Given the description of an element on the screen output the (x, y) to click on. 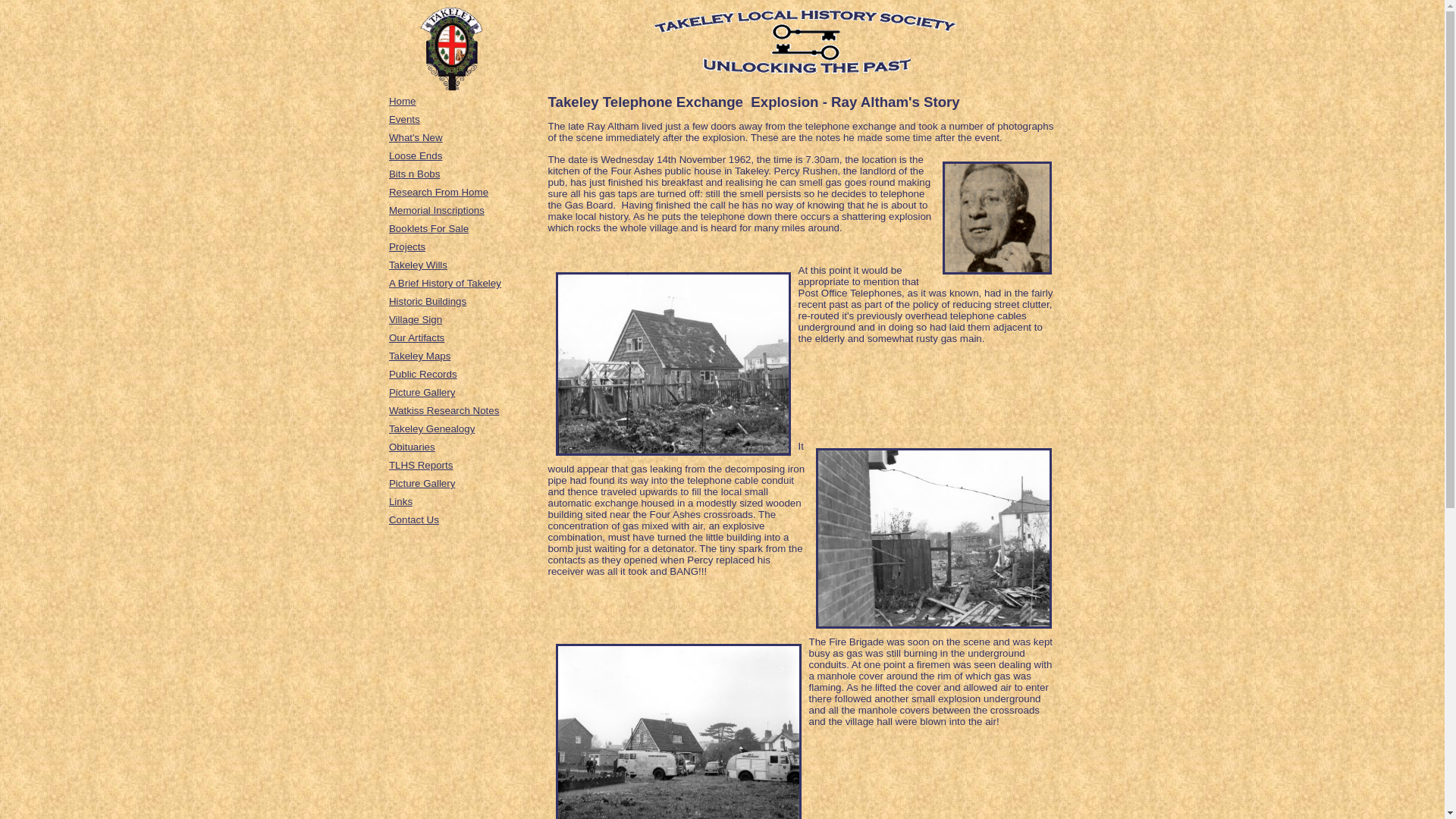
Bits n Bobs (413, 173)
Memorial Inscriptions (436, 210)
A Brief History of Takeley (444, 283)
Takeley Wills (417, 265)
Projects (406, 246)
Research From Home (437, 192)
Obituaries (411, 446)
Watkiss Research Notes (443, 410)
Takeley Maps (419, 355)
Public Records (422, 374)
